Given the description of an element on the screen output the (x, y) to click on. 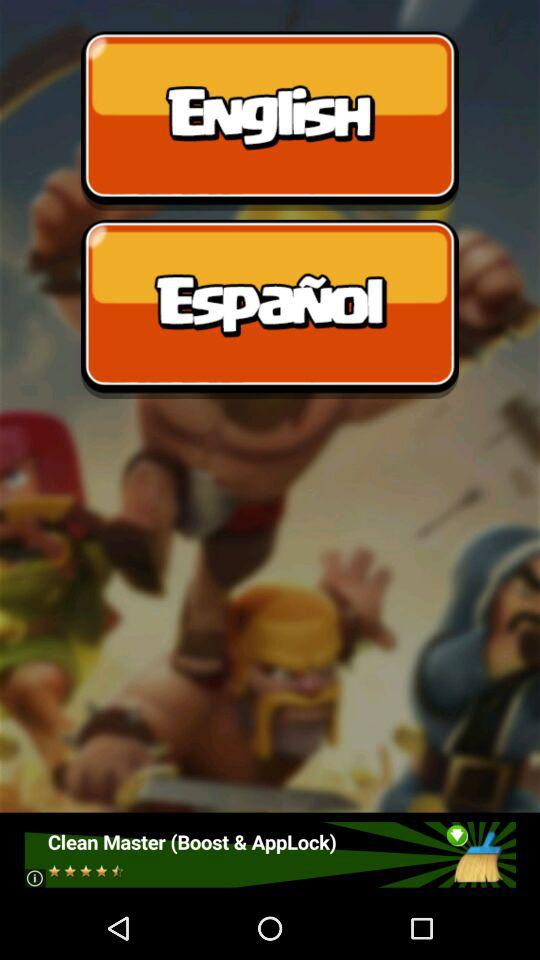
select english as language (270, 120)
